Given the description of an element on the screen output the (x, y) to click on. 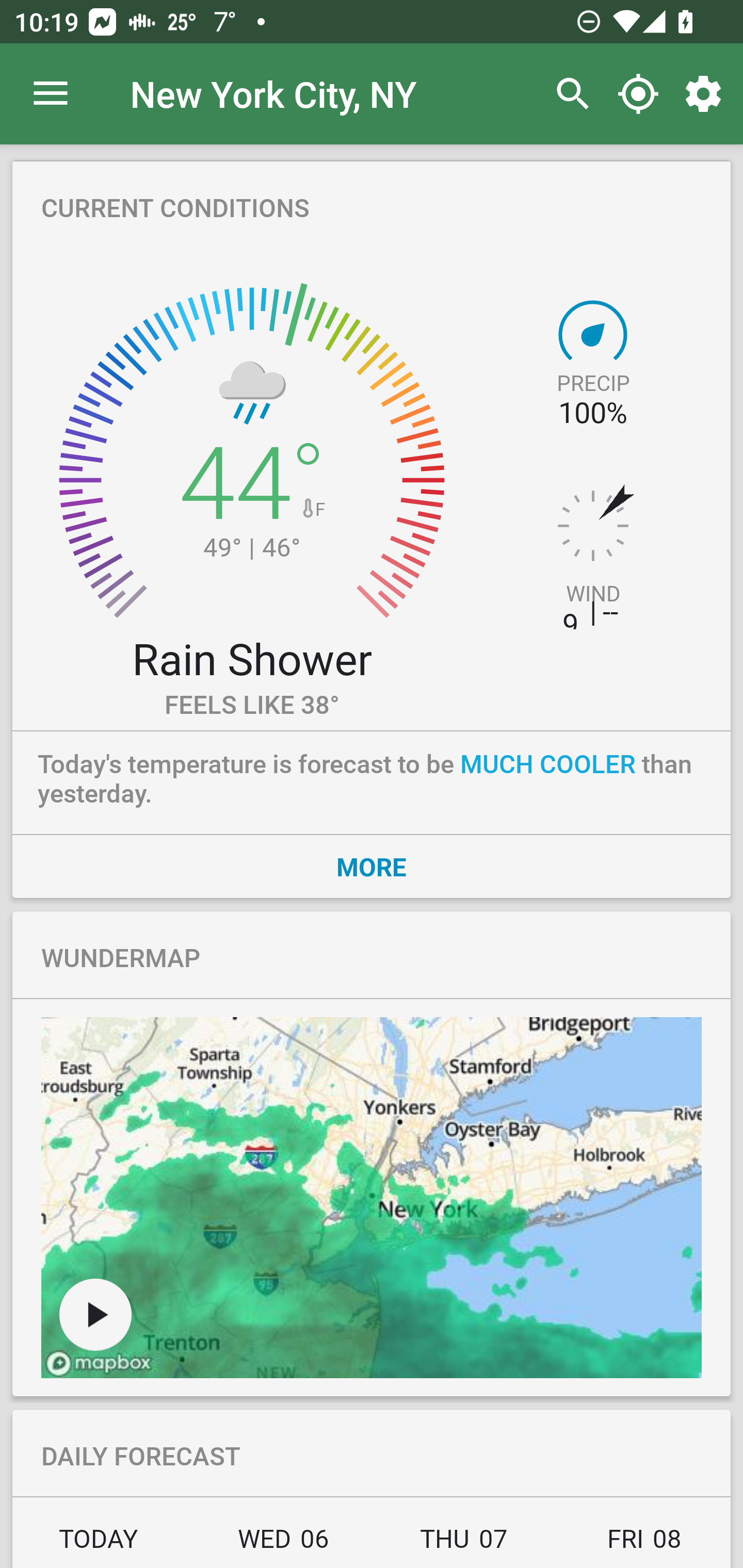
Press to open location manager. (50, 93)
Search for location (567, 94)
Select GPS location (637, 94)
Settings (706, 94)
New York City, NY (273, 92)
100% (592, 412)
Rain Shower (251, 657)
MORE (371, 865)
Weather Map (371, 1197)
Weather Map (95, 1314)
TODAY (102, 1544)
WED 06 (283, 1544)
THU 07 (463, 1544)
FRI 08 (642, 1544)
